Given the description of an element on the screen output the (x, y) to click on. 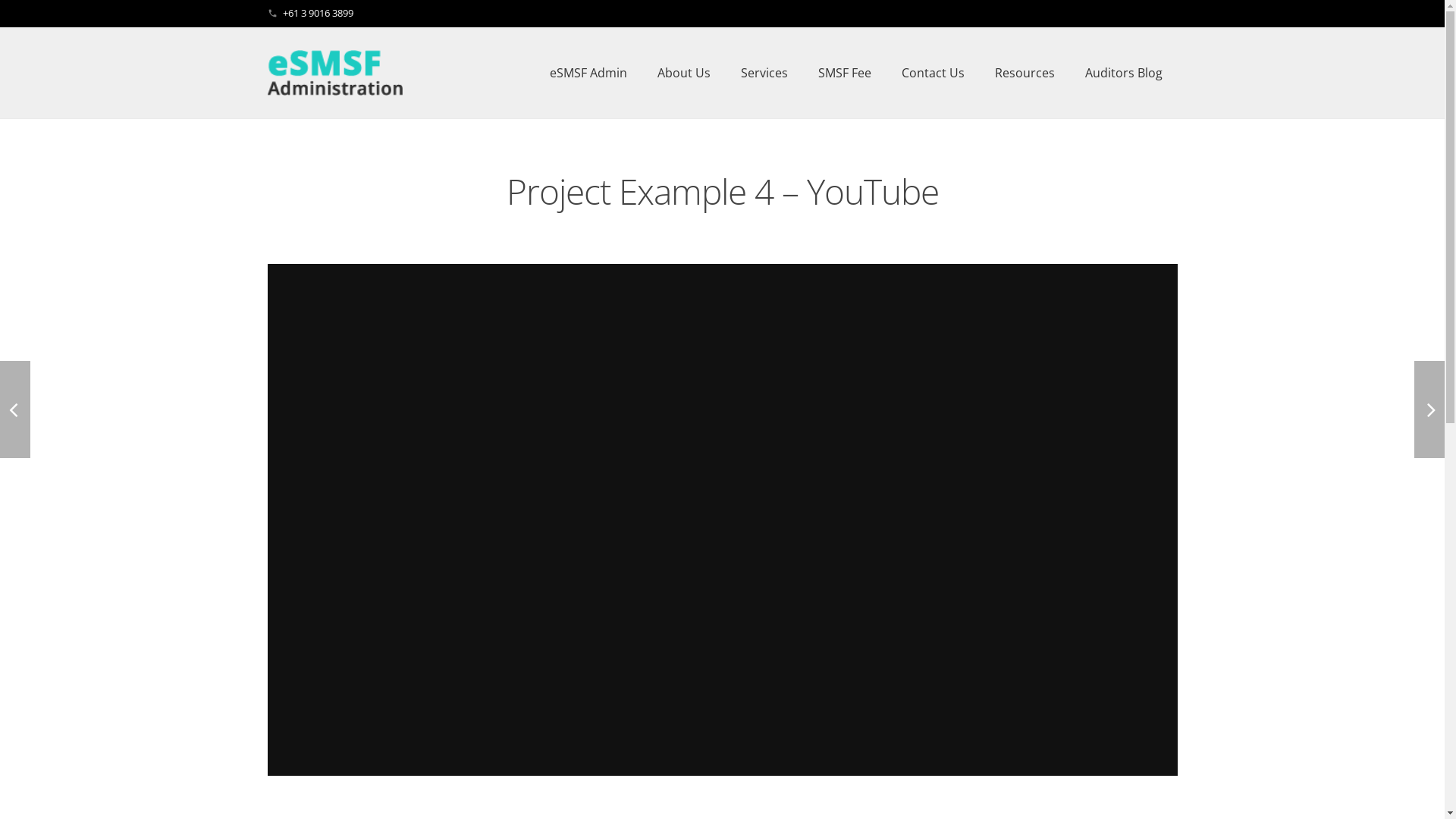
About Us Element type: text (683, 72)
+61 3 9016 3899 Element type: text (317, 12)
Services Element type: text (764, 72)
SMSF Fee Element type: text (844, 72)
eSMSF Admin Element type: text (588, 72)
Auditors Blog Element type: text (1123, 72)
Resources Element type: text (1024, 72)
Contact Us Element type: text (932, 72)
